Given the description of an element on the screen output the (x, y) to click on. 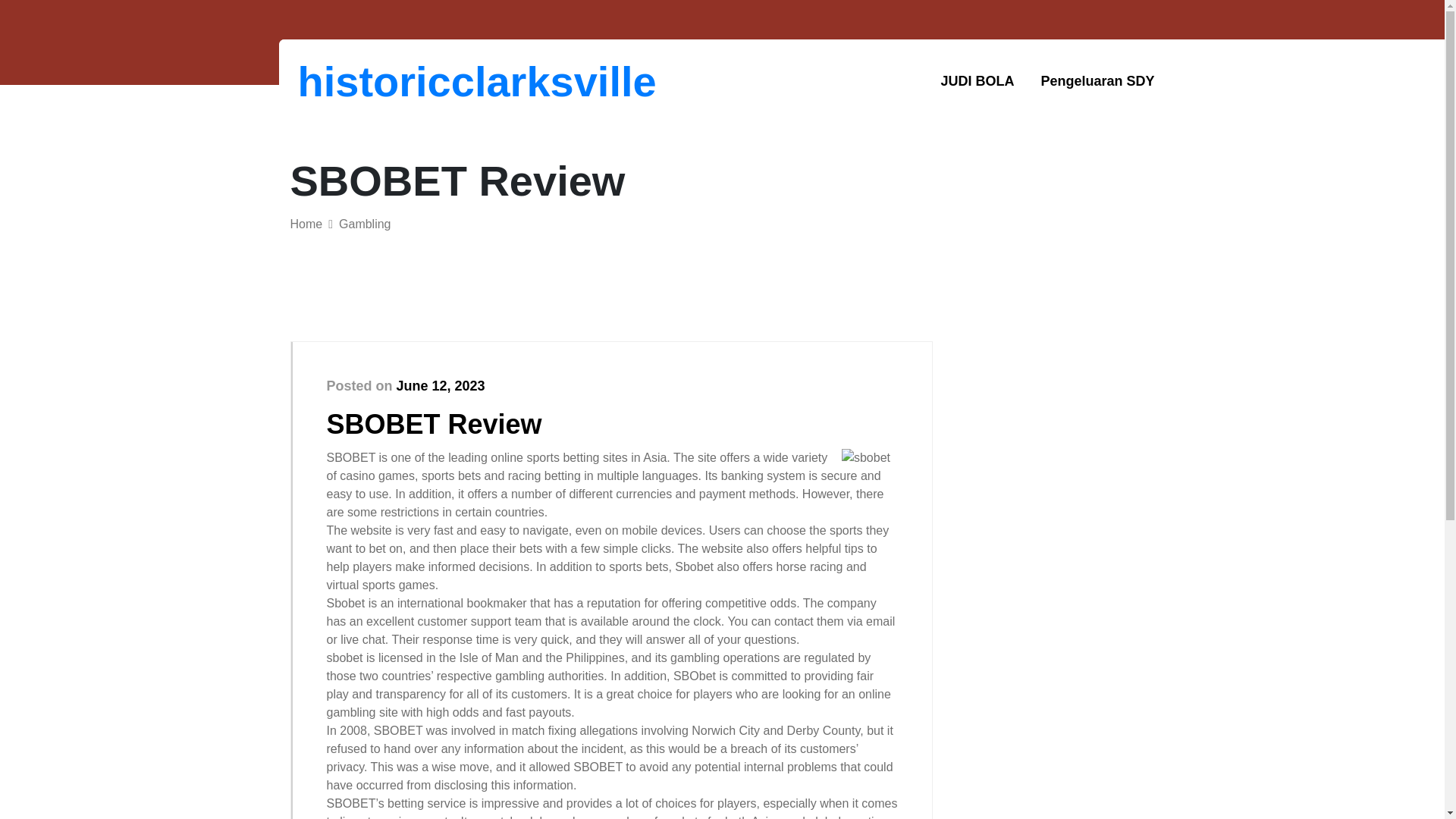
Gambling (364, 223)
Pengeluaran SDY (1097, 81)
historicclarksville (376, 81)
Home (305, 223)
JUDI BOLA (976, 81)
June 12, 2023 (440, 385)
JUDI BOLA (976, 81)
SBOBET Review (433, 423)
Pengeluaran SDY (1097, 81)
